Given the description of an element on the screen output the (x, y) to click on. 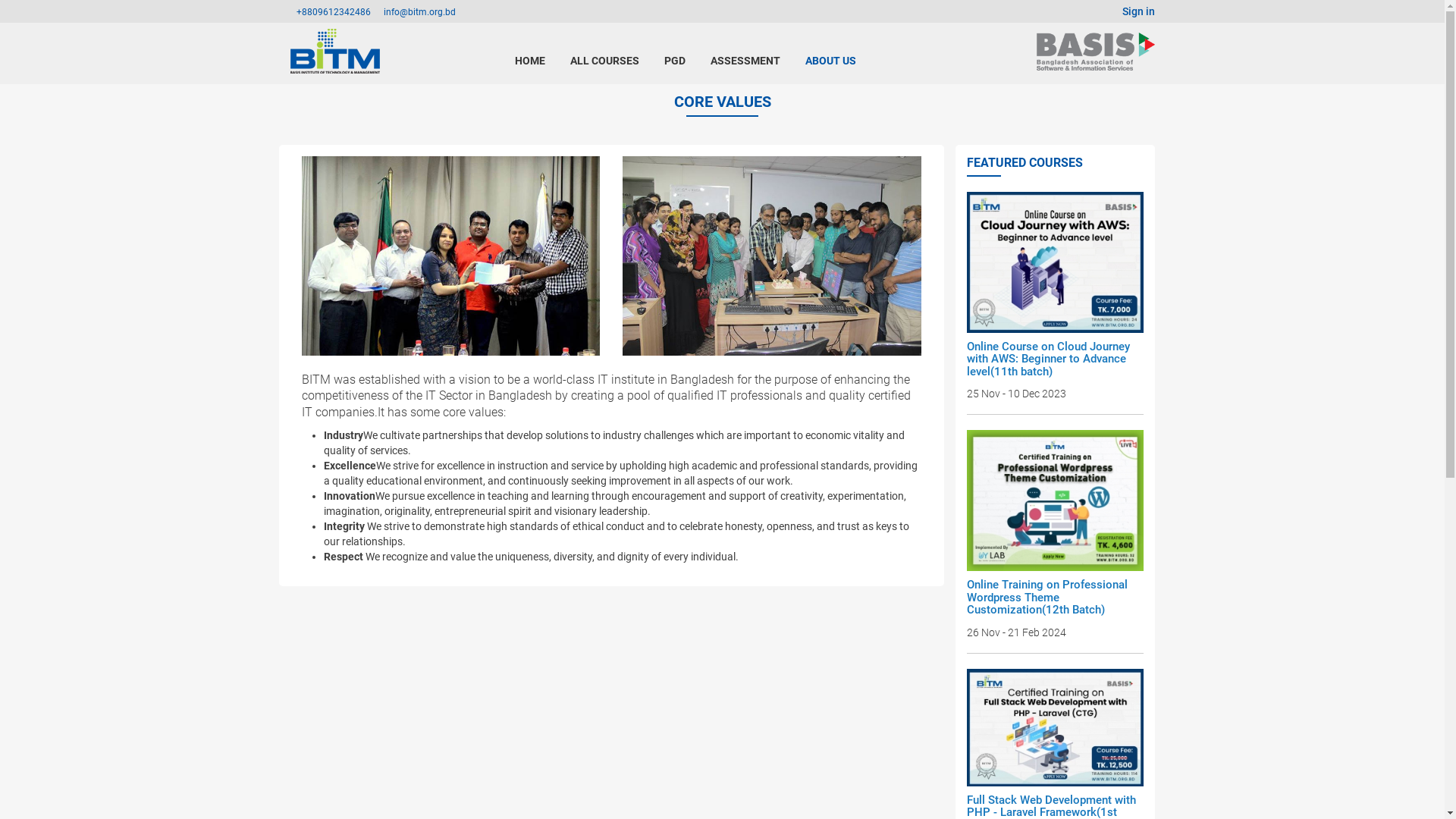
ALL COURSES Element type: text (604, 60)
ABOUT US Element type: text (830, 60)
Sign in Element type: text (1138, 11)
PGD Element type: text (674, 60)
HOME Element type: text (529, 60)
ASSESSMENT Element type: text (745, 60)
info@bitm.org.bd Element type: text (419, 11)
